Given the description of an element on the screen output the (x, y) to click on. 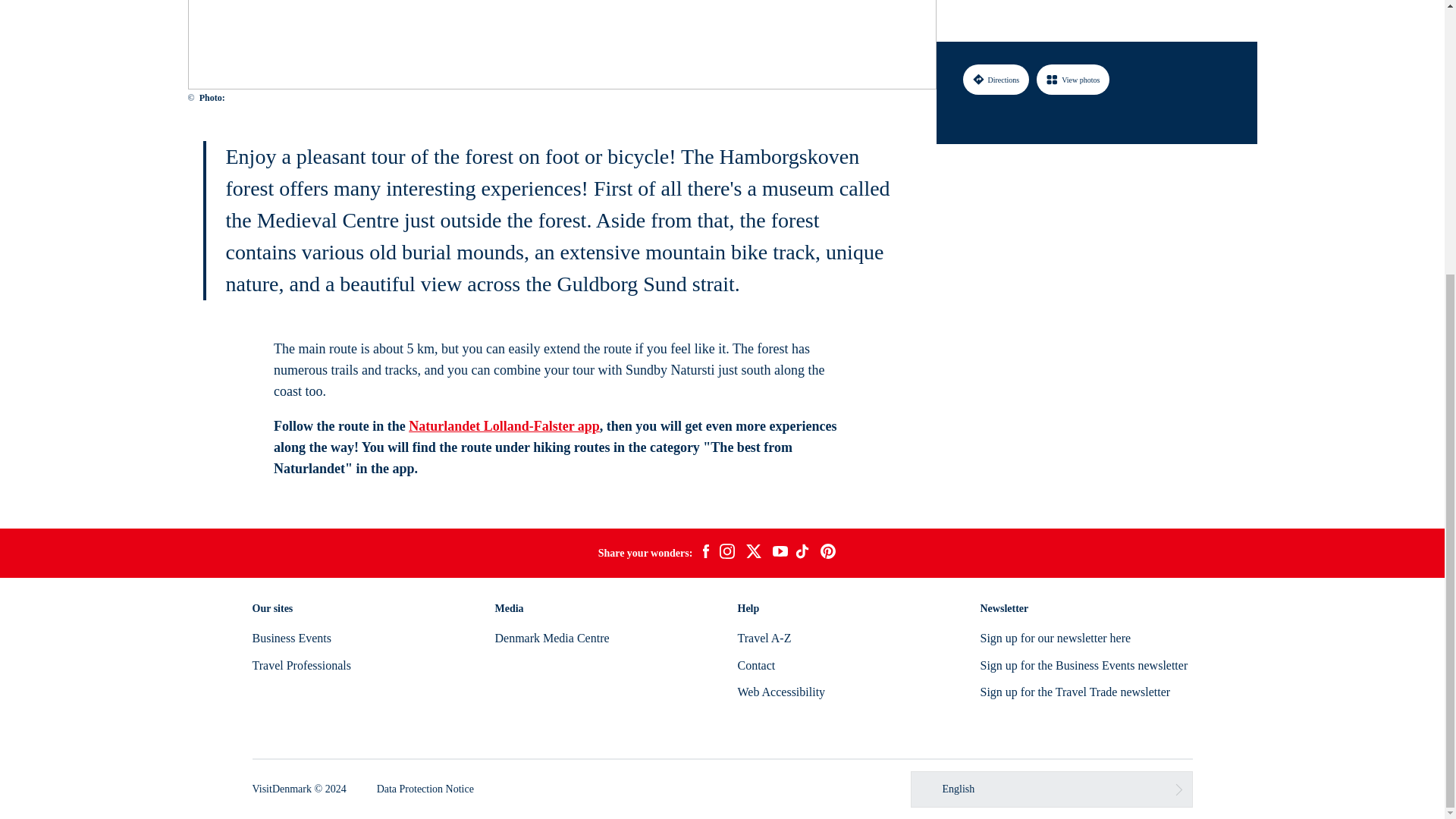
Business Events (290, 637)
Data Protection Notice (425, 789)
Travel Professionals (300, 665)
Web Accessibility (780, 691)
facebook (705, 553)
Sign up for our newsletter here (1055, 637)
twitter (753, 553)
Contact (755, 665)
Travel A-Z (763, 637)
Travel A-Z (763, 637)
Sign up for our newsletter here (1055, 637)
Contact (755, 665)
Naturlandet Lolland-Falster app (504, 426)
Sign up for the Travel Trade newsletter (1074, 691)
Web Accessibility (780, 691)
